Given the description of an element on the screen output the (x, y) to click on. 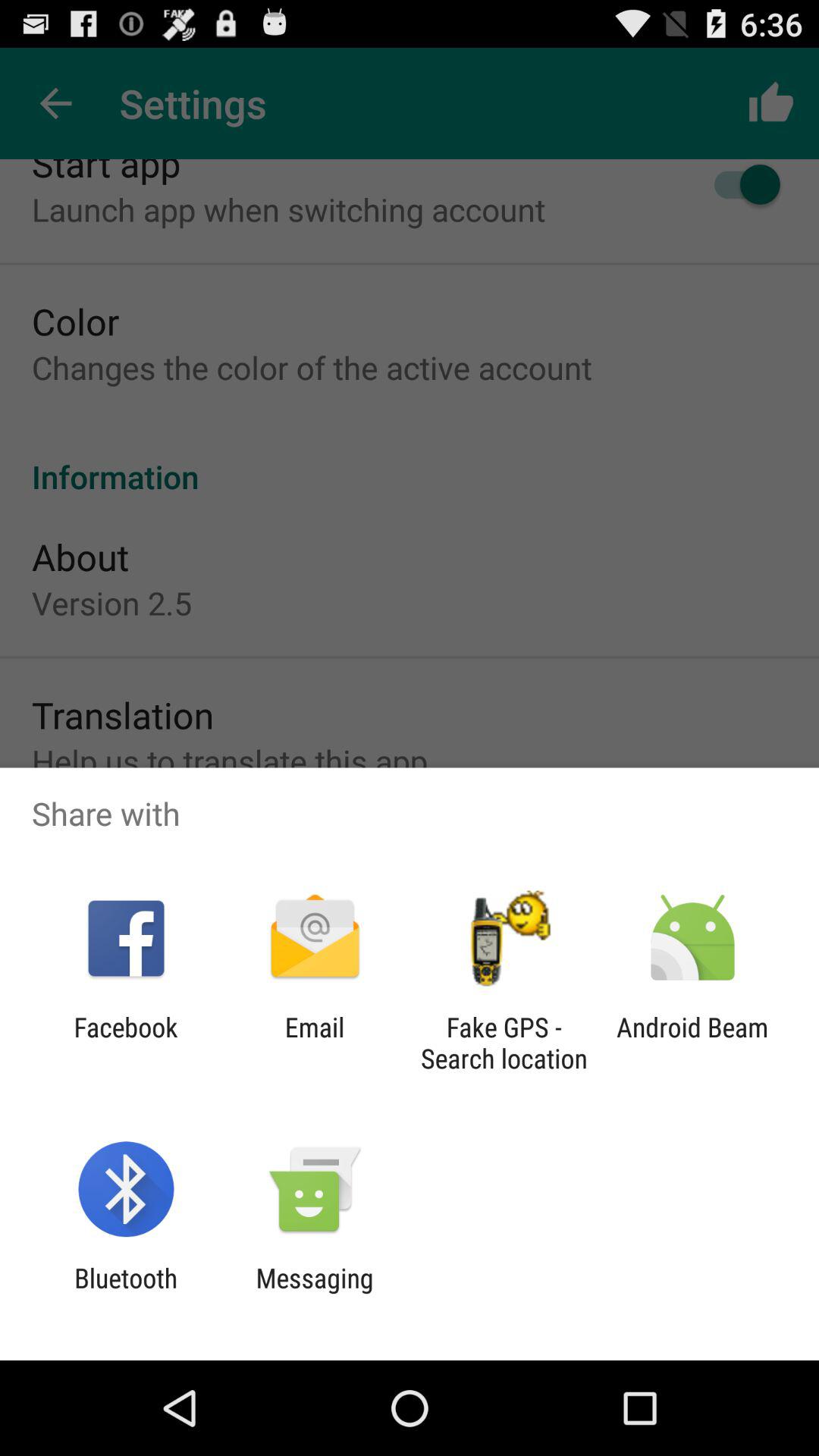
turn off the icon next to messaging icon (125, 1293)
